Given the description of an element on the screen output the (x, y) to click on. 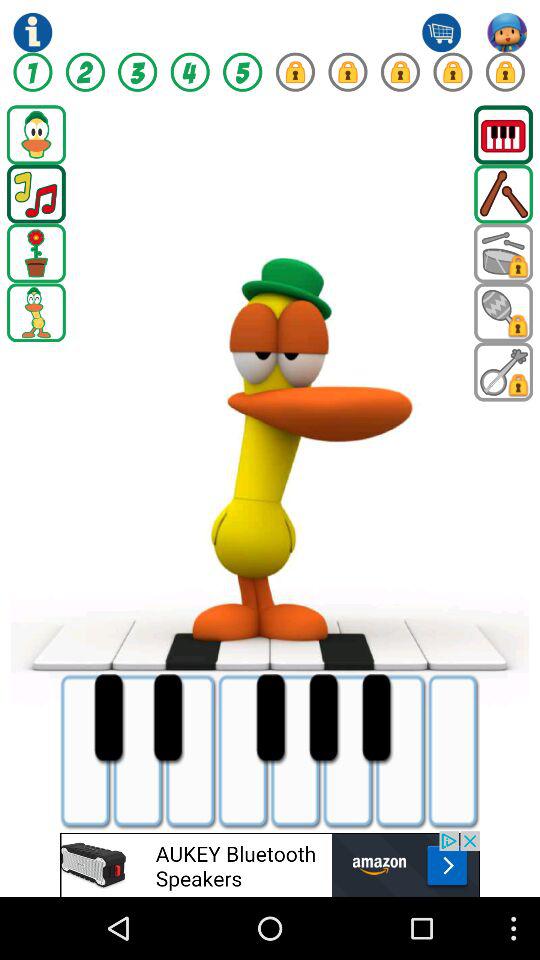
show cart (441, 32)
